Given the description of an element on the screen output the (x, y) to click on. 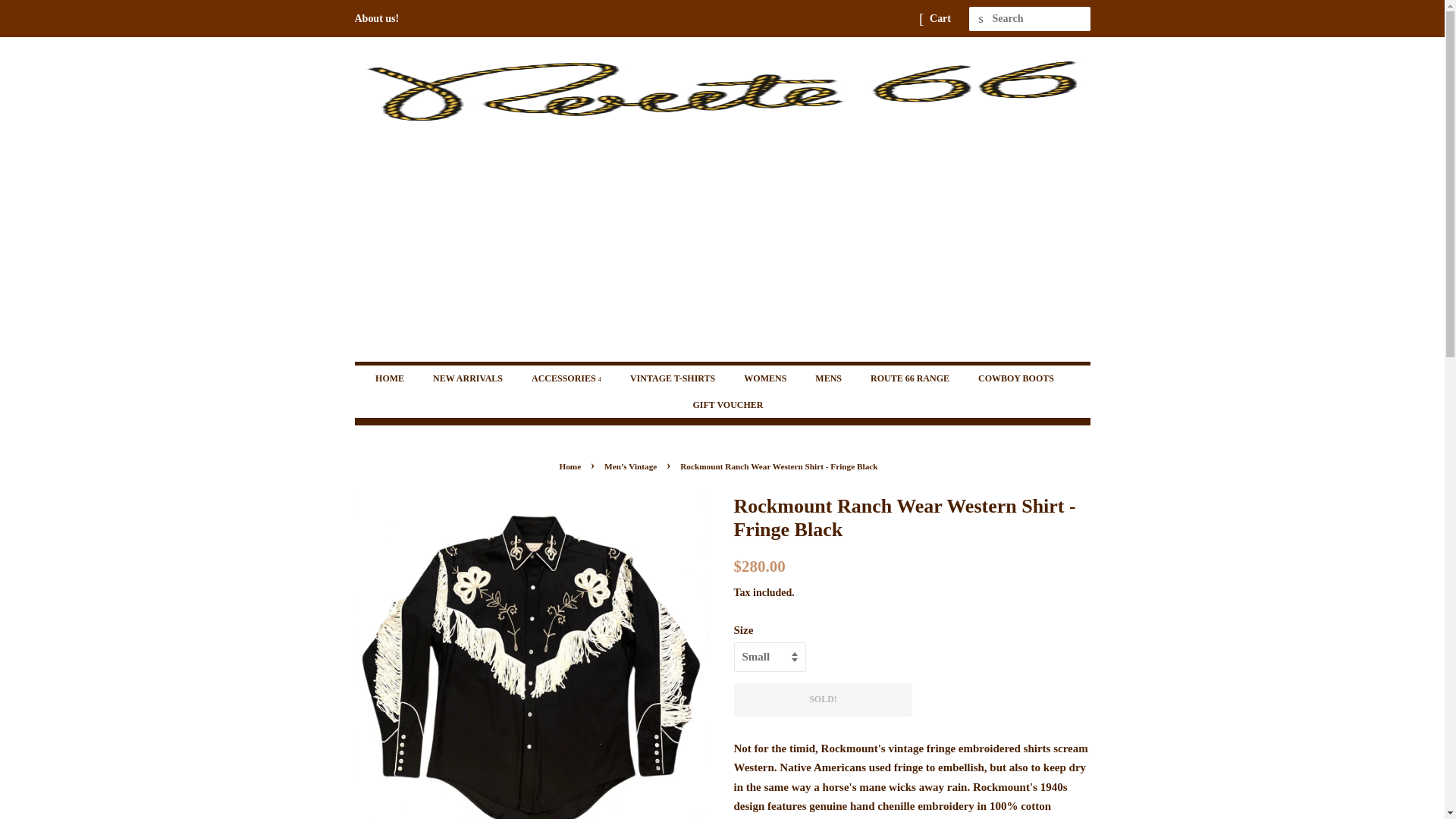
NEW ARRIVALS (470, 378)
HOME (397, 378)
SEARCH (980, 18)
MENS (830, 378)
VINTAGE T-SHIRTS (674, 378)
Back to the frontpage (572, 465)
About us! (376, 18)
Cart (940, 18)
ACCESSORIES (567, 378)
WOMENS (767, 378)
ROUTE 66 RANGE (911, 378)
